Given the description of an element on the screen output the (x, y) to click on. 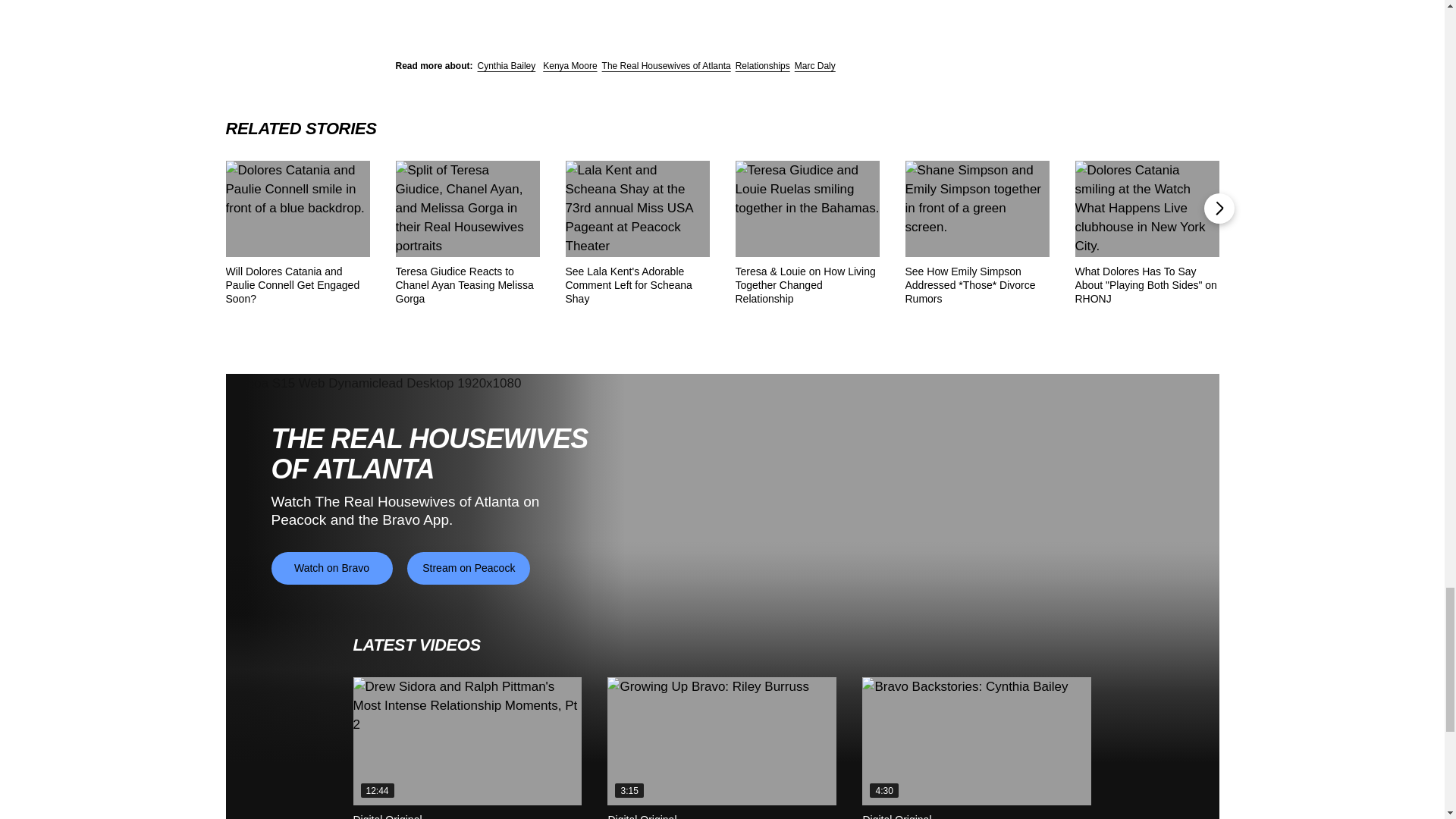
The Real Housewives of Atlanta (666, 65)
Bravo Backstories: Cynthia Bailey (975, 741)
Cynthia Bailey (506, 65)
Kenya Moore (569, 65)
Growing Up Bravo: Riley Burruss (721, 741)
